Given the description of an element on the screen output the (x, y) to click on. 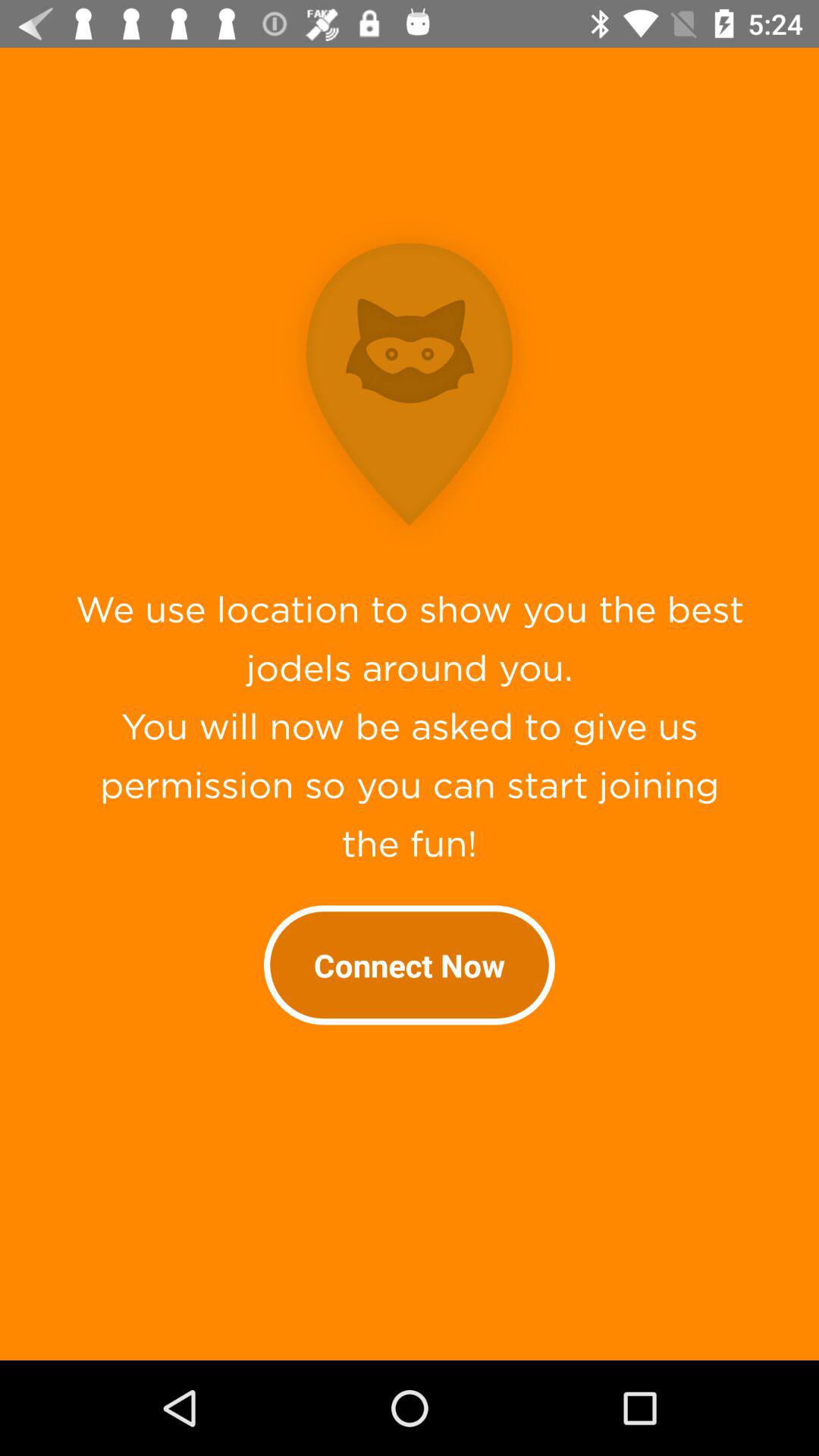
open the connect now item (409, 964)
